Given the description of an element on the screen output the (x, y) to click on. 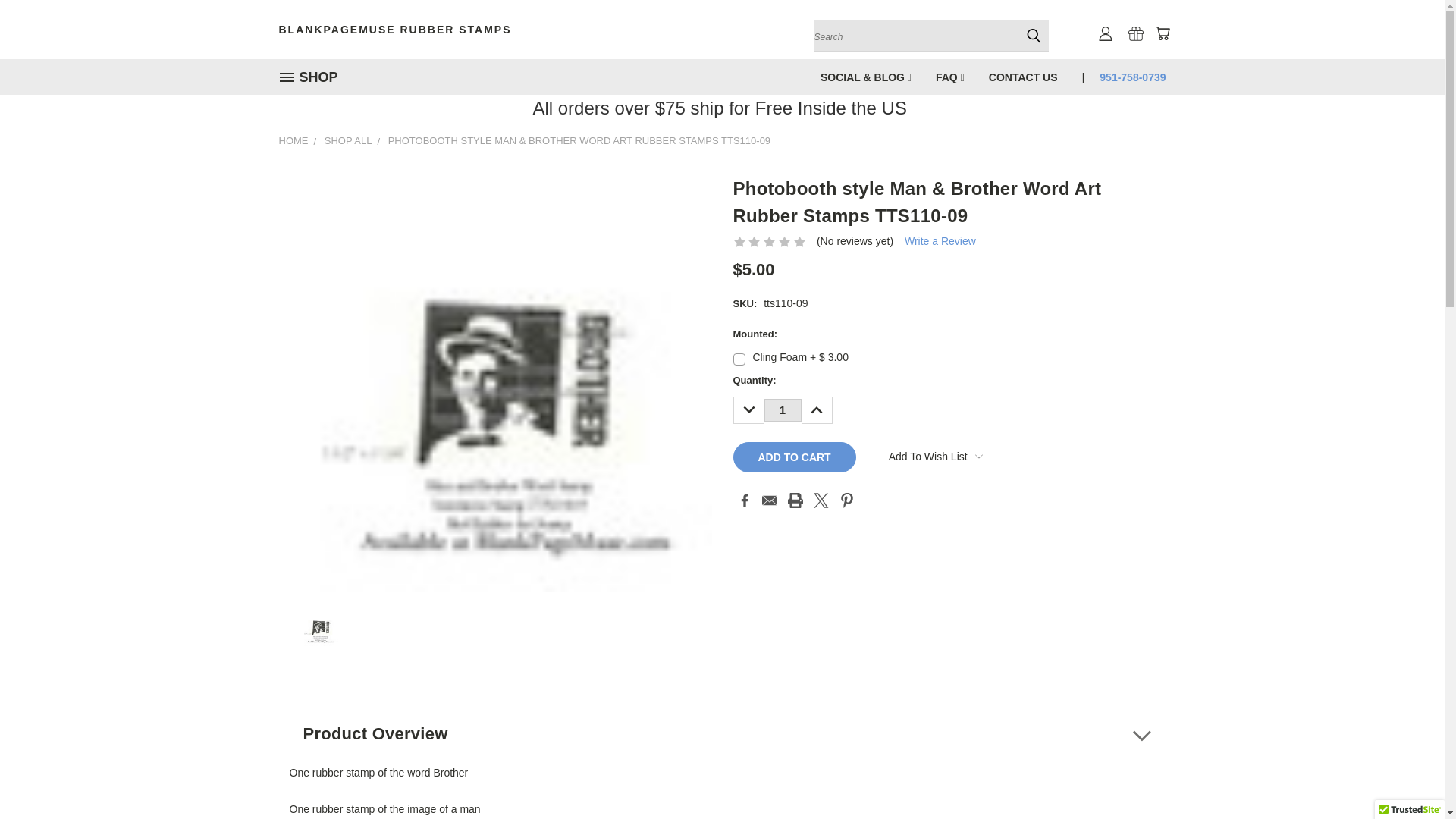
Twitter (820, 500)
Print (795, 500)
BLANKPAGEMUSE RUBBER STAMPS (423, 28)
Add to Cart (794, 457)
Pinterest (847, 500)
Facebook (744, 500)
submit (1033, 35)
Email (769, 500)
1 (783, 409)
SHOP (314, 77)
